Given the description of an element on the screen output the (x, y) to click on. 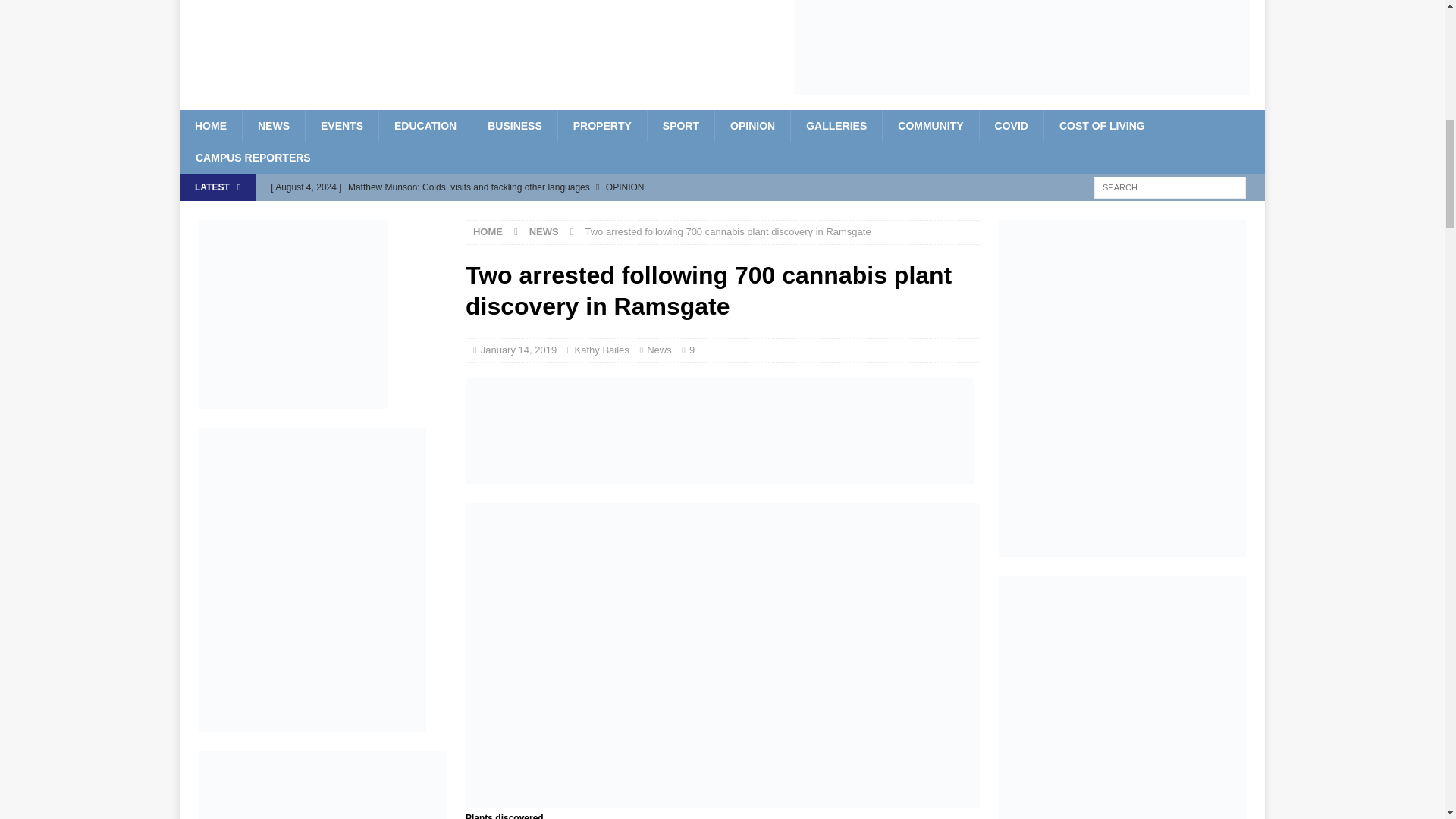
COST OF LIVING (1101, 125)
PROPERTY (601, 125)
SPORT (680, 125)
Matthew Munson: Colds, visits and tackling other languages (574, 186)
BUSINESS (514, 125)
CAMPUS REPORTERS (252, 157)
COVID (1010, 125)
NEWS (272, 125)
HOME (210, 125)
EVENTS (341, 125)
EDUCATION (424, 125)
GALLERIES (836, 125)
9 (691, 349)
COMMUNITY (930, 125)
